Given the description of an element on the screen output the (x, y) to click on. 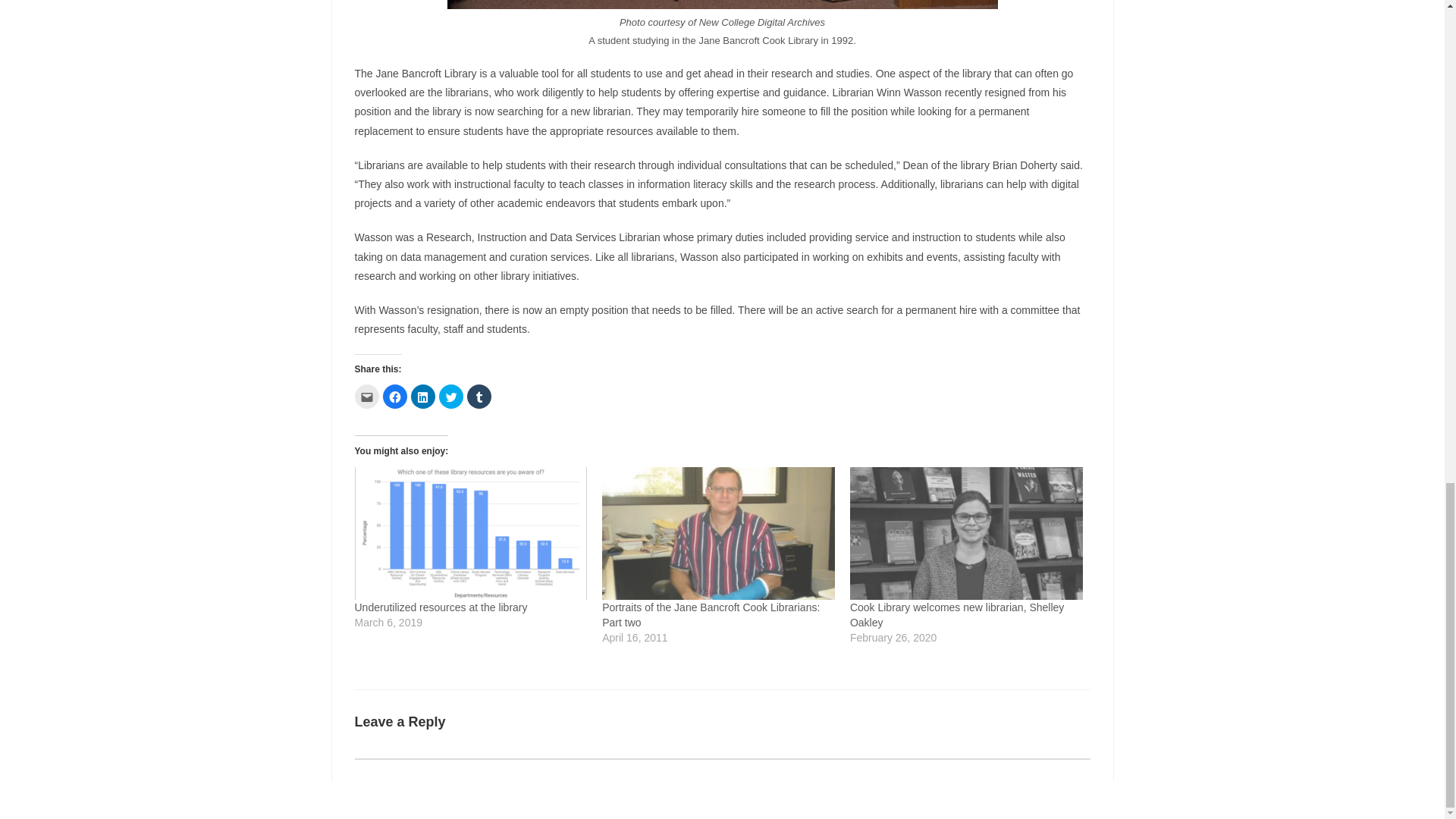
Click to share on Tumblr (479, 396)
Portraits of the Jane Bancroft Cook Librarians: Part two (710, 614)
Click to email this to a friend (366, 396)
Underutilized resources at the library (441, 607)
Click to share on Twitter (450, 396)
Cook Library welcomes new librarian, Shelley Oakley (957, 614)
Underutilized resources at the library (441, 607)
Cook Library welcomes new librarian, Shelley Oakley (966, 532)
Click to share on Facebook (393, 396)
Click to share on LinkedIn (422, 396)
Portraits of the Jane Bancroft Cook Librarians: Part two (718, 532)
Underutilized resources at the library (471, 532)
